Given the description of an element on the screen output the (x, y) to click on. 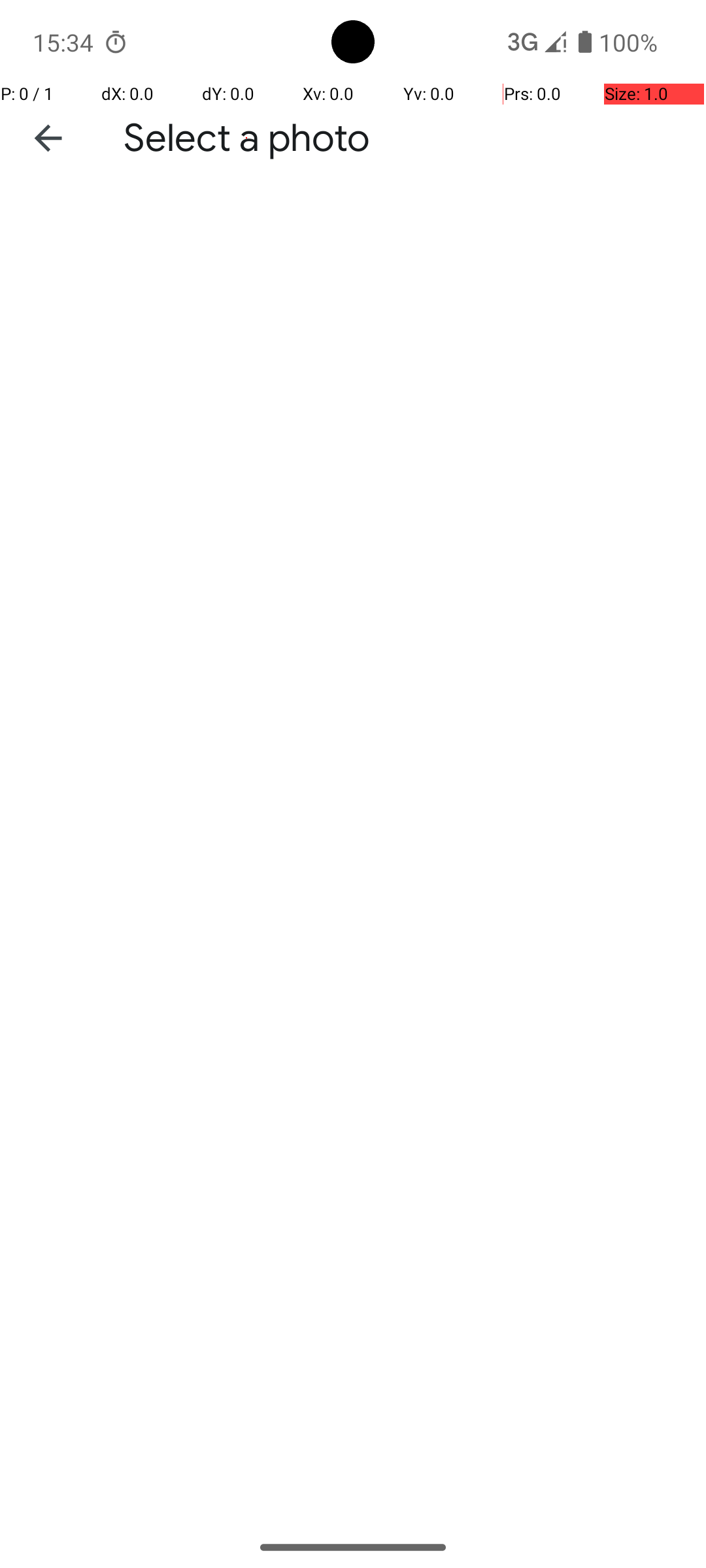
Select a photo Element type: android.widget.TextView (246, 138)
